Given the description of an element on the screen output the (x, y) to click on. 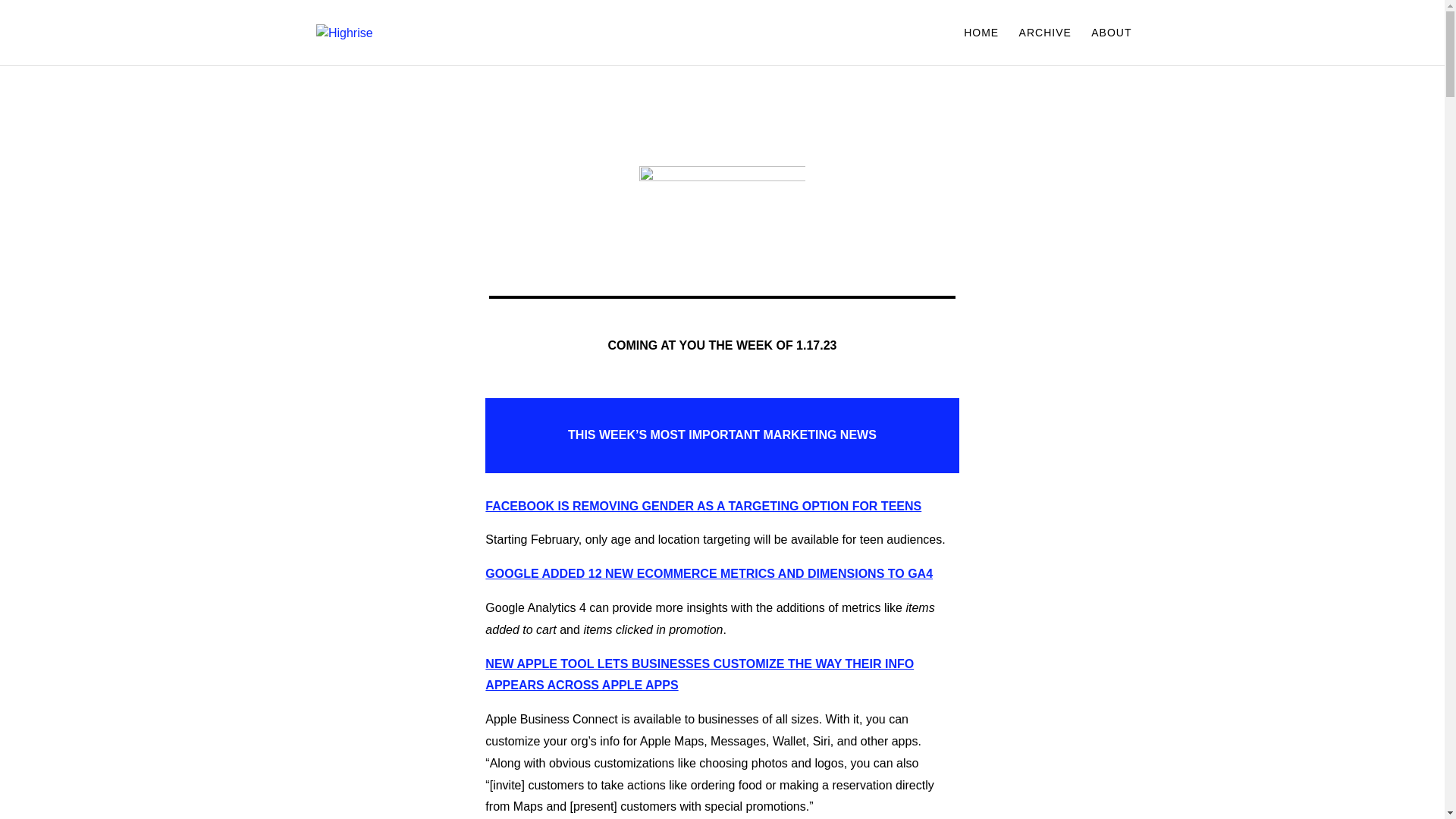
HOME (980, 46)
FACEBOOK IS REMOVING GENDER AS A TARGETING OPTION FOR TEENS (702, 505)
Highrise-Logo-lrg (722, 190)
ARCHIVE (1045, 46)
GOOGLE ADDED 12 NEW ECOMMERCE METRICS AND DIMENSIONS TO GA4 (708, 573)
ABOUT (1110, 46)
